Given the description of an element on the screen output the (x, y) to click on. 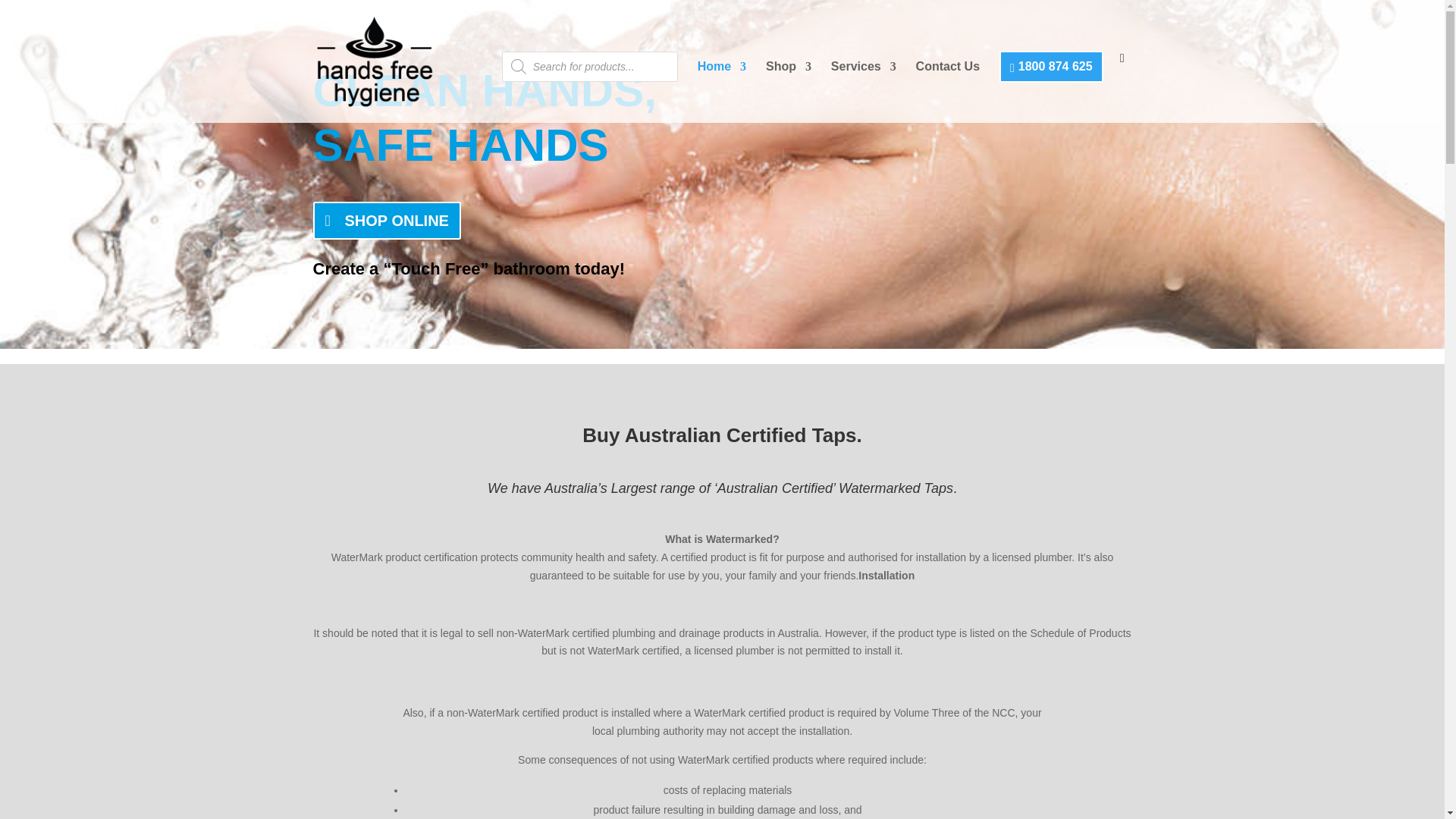
1800 874 625 (1050, 66)
Services (863, 91)
Contact Us (947, 91)
